Given the description of an element on the screen output the (x, y) to click on. 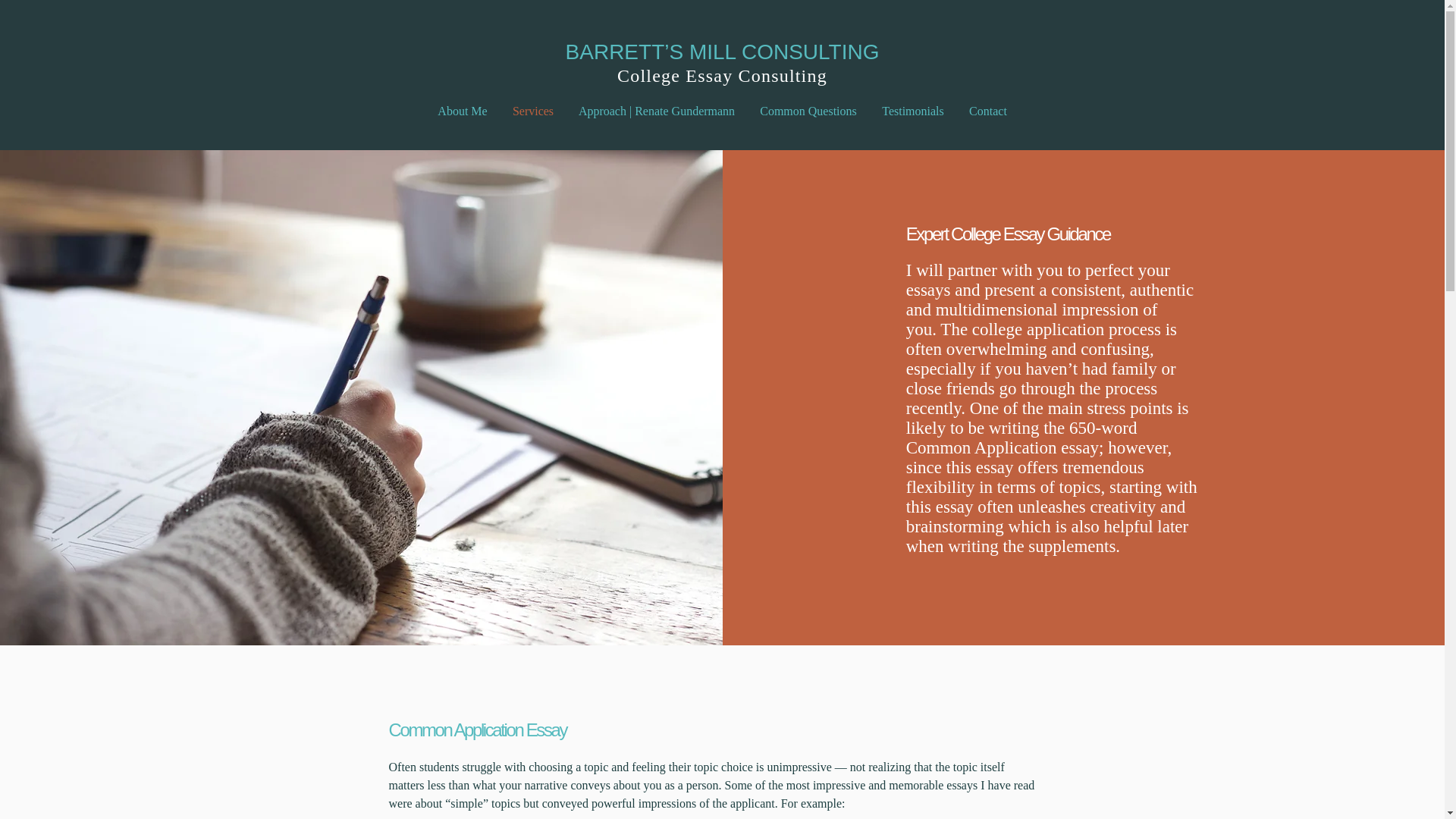
Contact (988, 111)
About Me (462, 111)
College Essay Consulting (722, 75)
Services (533, 111)
Common Questions (808, 111)
Testimonials (912, 111)
